Given the description of an element on the screen output the (x, y) to click on. 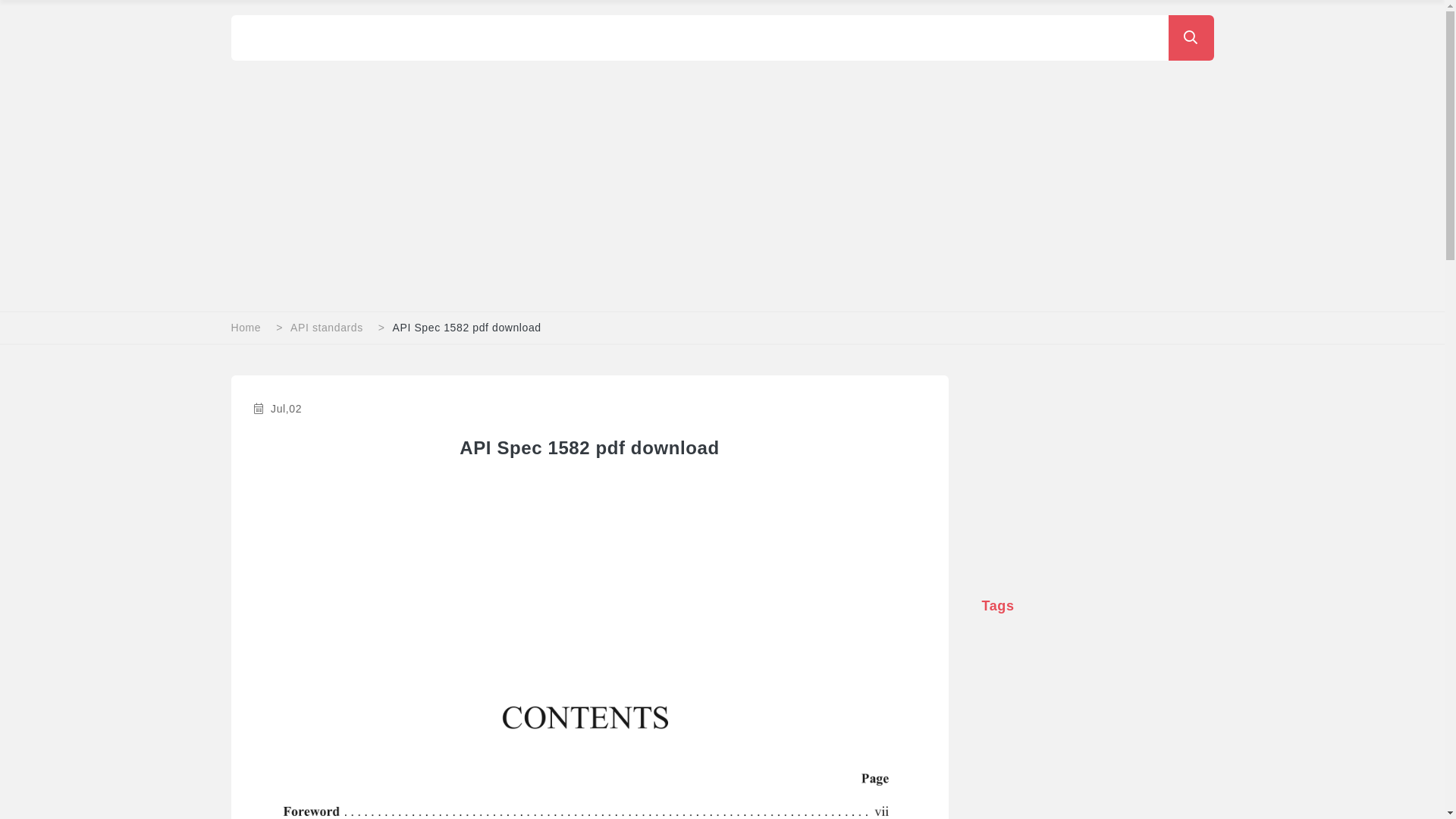
Advertisement Element type: hover (589, 567)
Home Element type: text (245, 327)
Advertisement Element type: hover (1097, 469)
Advertisement Element type: hover (685, 174)
API standards Element type: text (326, 327)
